Given the description of an element on the screen output the (x, y) to click on. 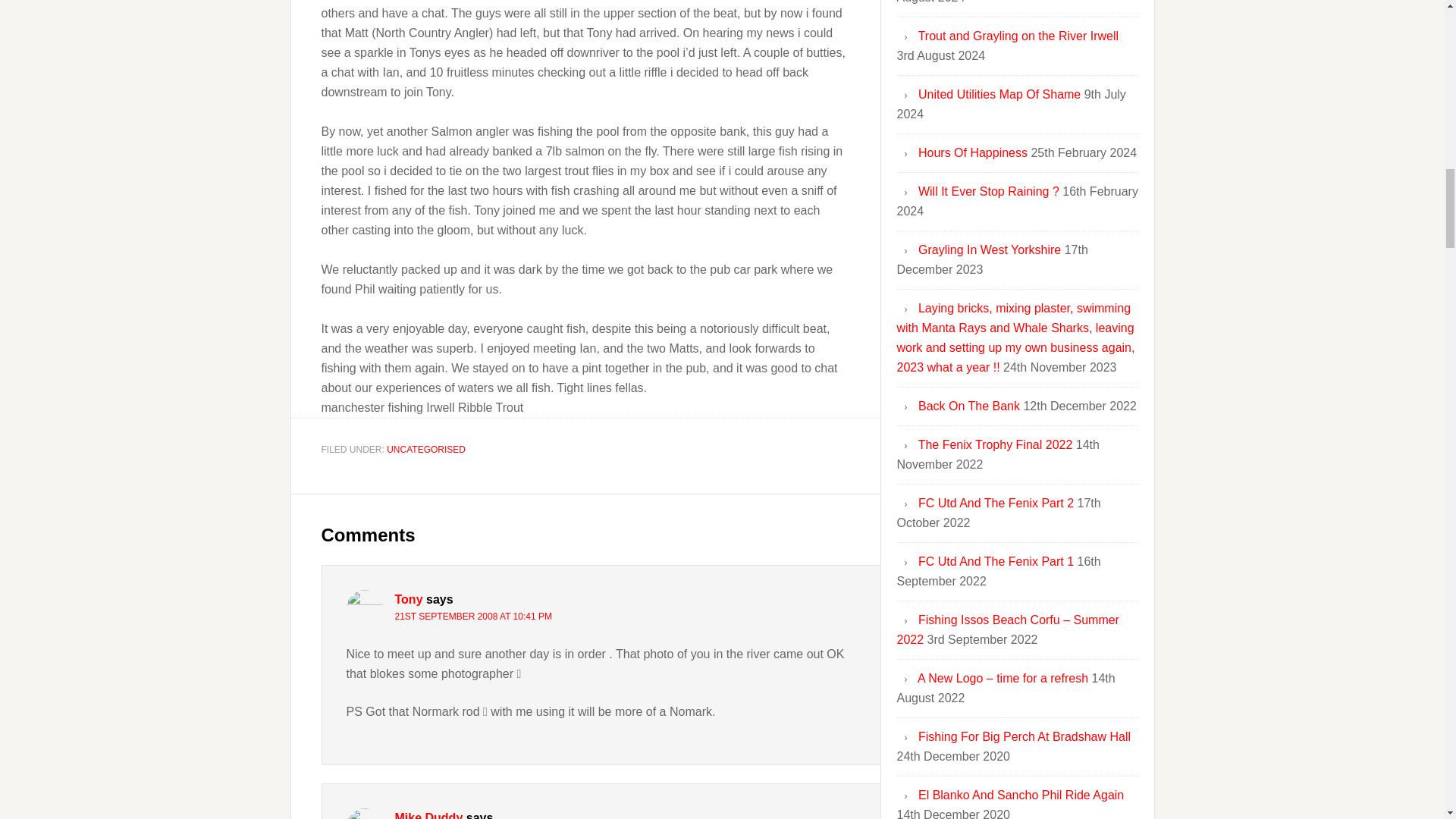
21ST SEPTEMBER 2008 AT 10:41 PM (472, 615)
UNCATEGORISED (426, 449)
Mike Duddy (428, 815)
Tony (408, 599)
